Given the description of an element on the screen output the (x, y) to click on. 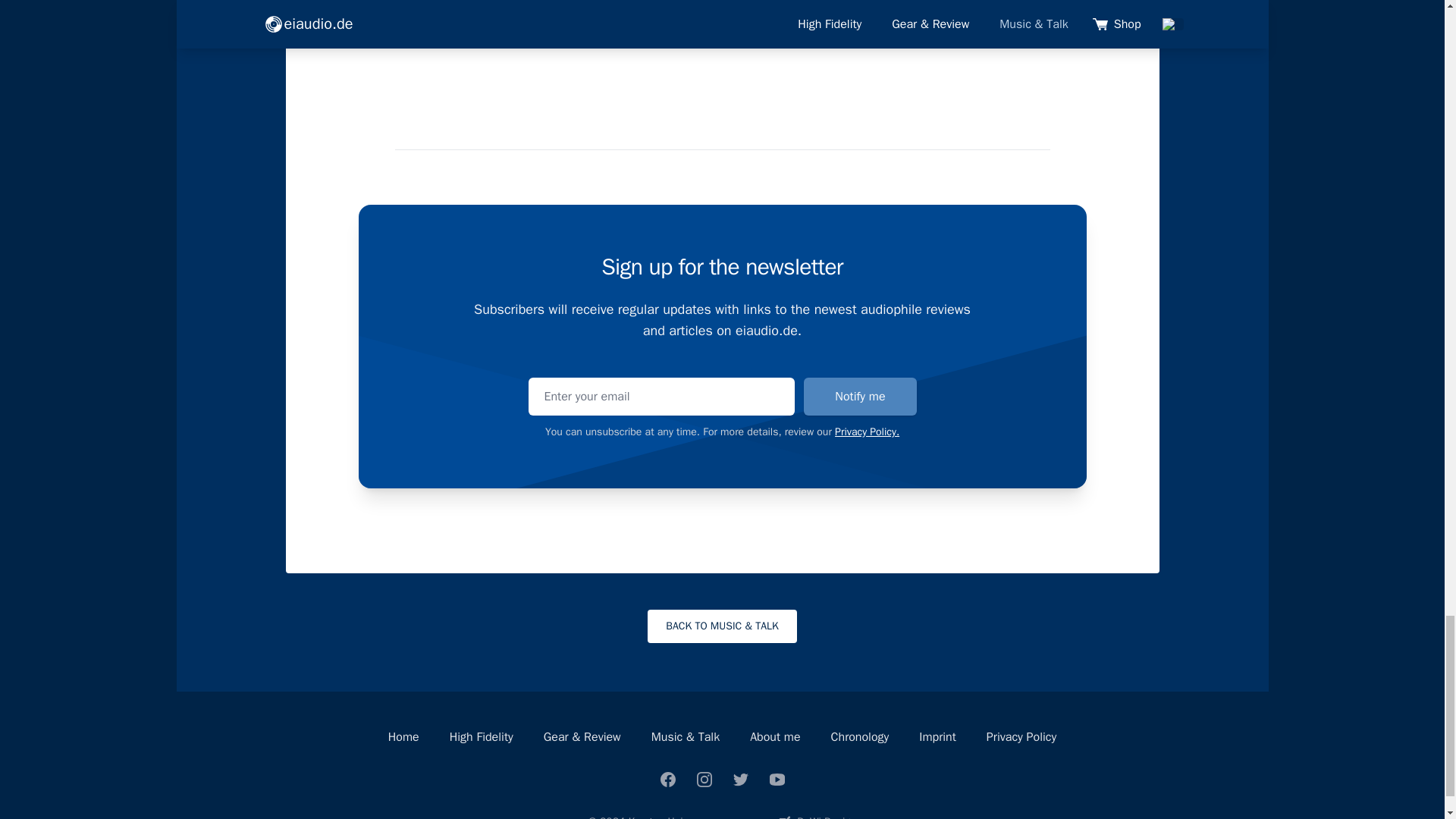
Chronology (860, 736)
Privacy Policy. (866, 431)
Facebook (667, 779)
YouTube (776, 779)
About me (774, 736)
Twitter (739, 779)
Facebook (667, 779)
Imprint (937, 736)
Share article via email (453, 2)
High Fidelity (481, 736)
Chronology (860, 736)
Instagram (703, 779)
YouTube (776, 779)
About Me (774, 736)
Notify me (859, 396)
